Given the description of an element on the screen output the (x, y) to click on. 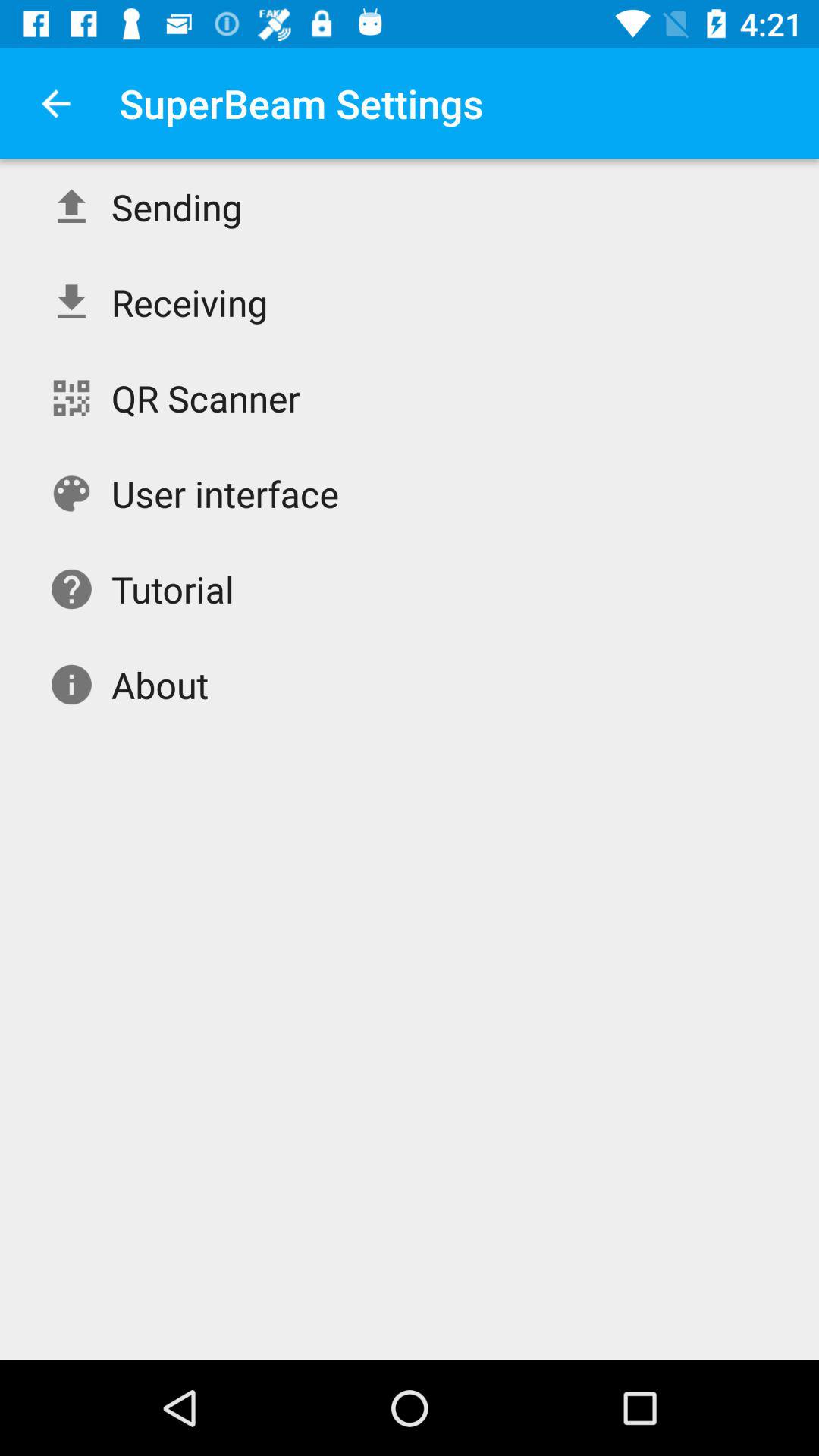
launch the tutorial icon (172, 588)
